Given the description of an element on the screen output the (x, y) to click on. 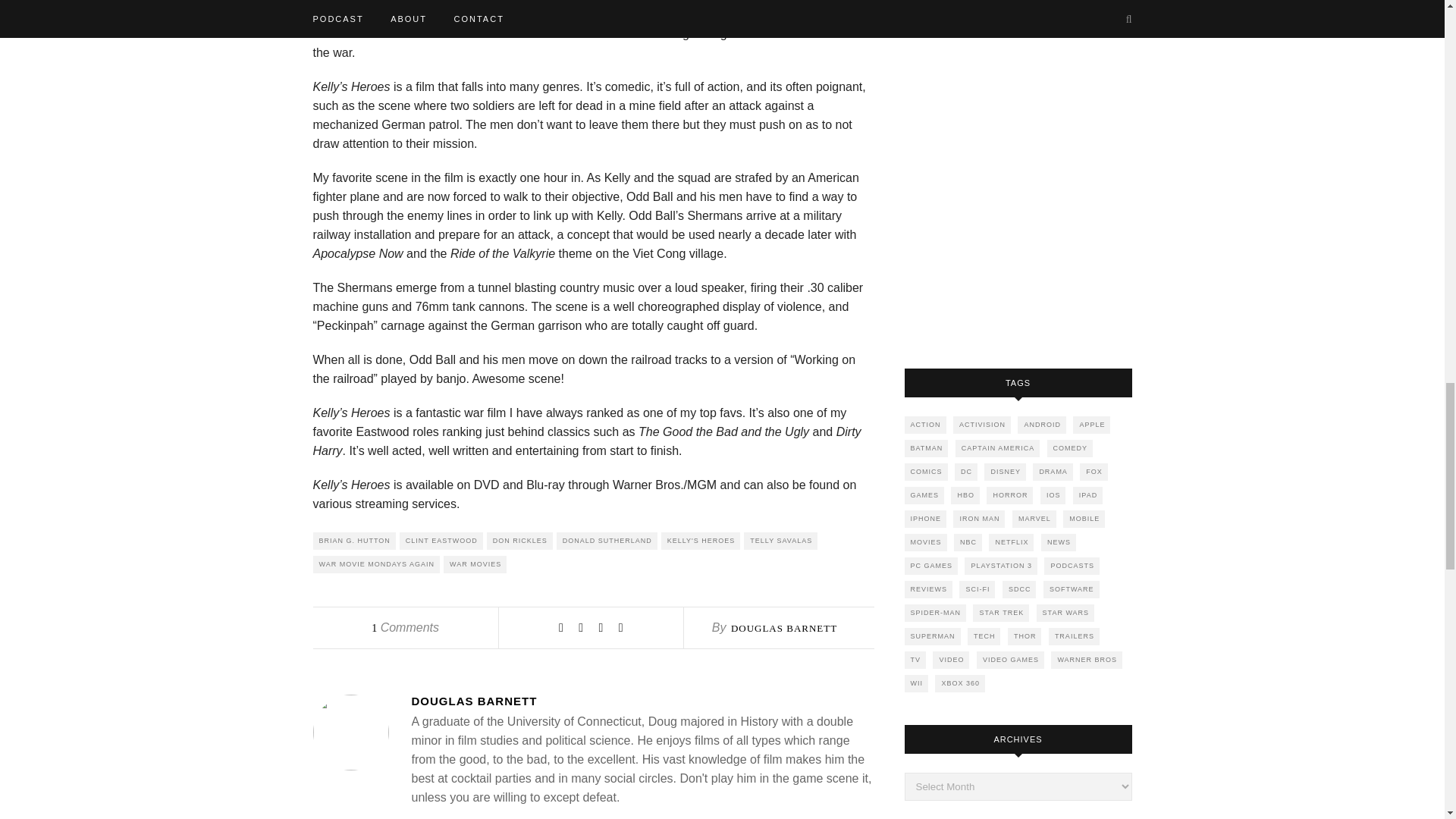
DON RICKLES (519, 540)
DONALD SUTHERLAND (607, 540)
1 Comments (405, 626)
Posts by Douglas Barnett (783, 627)
DOUGLAS BARNETT (641, 700)
WAR MOVIES (475, 564)
BRIAN G. HUTTON (353, 540)
KELLY'S HEROES (701, 540)
WAR MOVIE MONDAYS AGAIN (376, 564)
DOUGLAS BARNETT (783, 627)
